Given the description of an element on the screen output the (x, y) to click on. 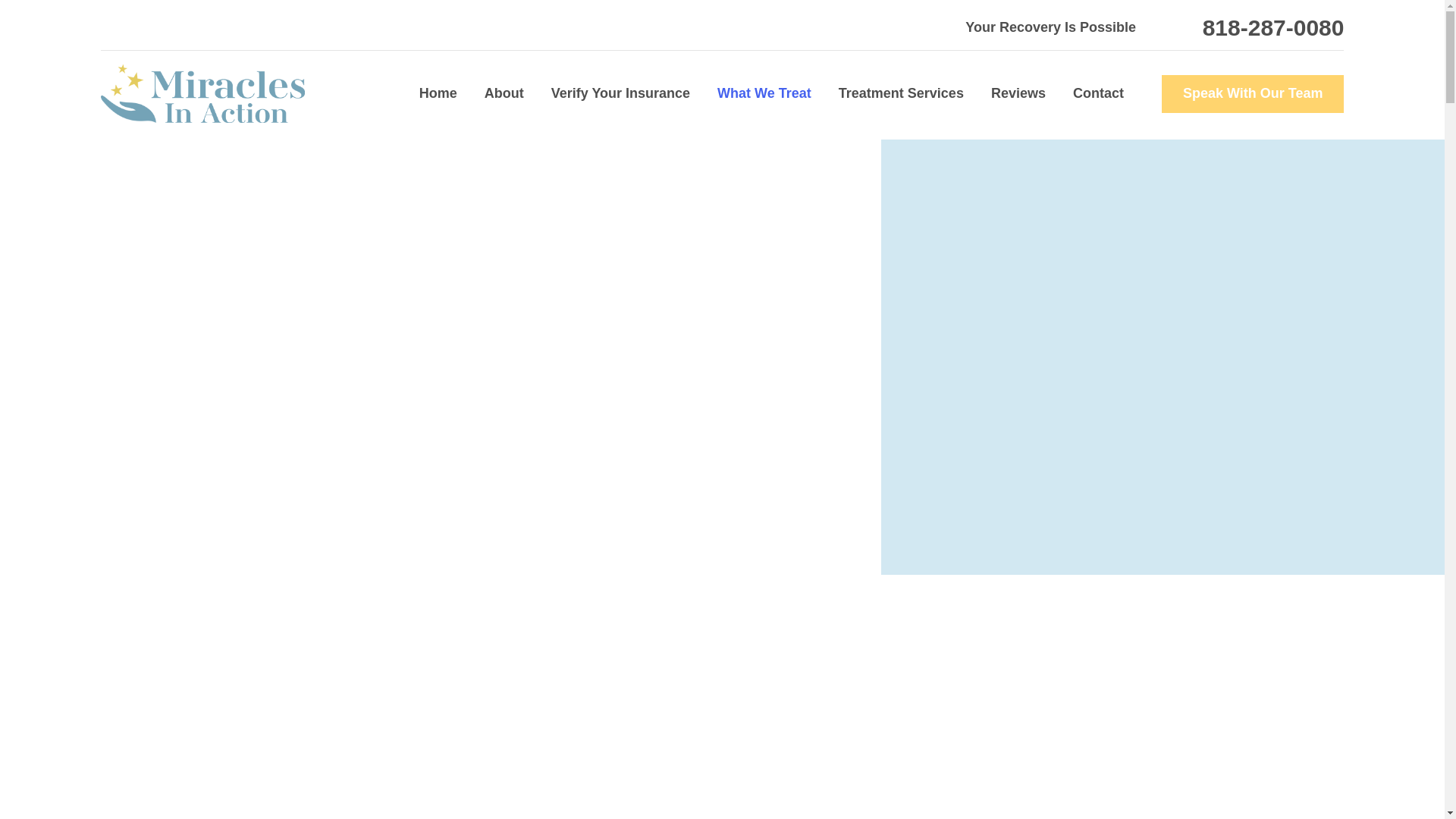
Verify Your Insurance (620, 93)
818-287-0080 (1272, 27)
What We Treat (764, 93)
About (503, 93)
Home (444, 93)
Open the accessibility options menu (31, 786)
